Given the description of an element on the screen output the (x, y) to click on. 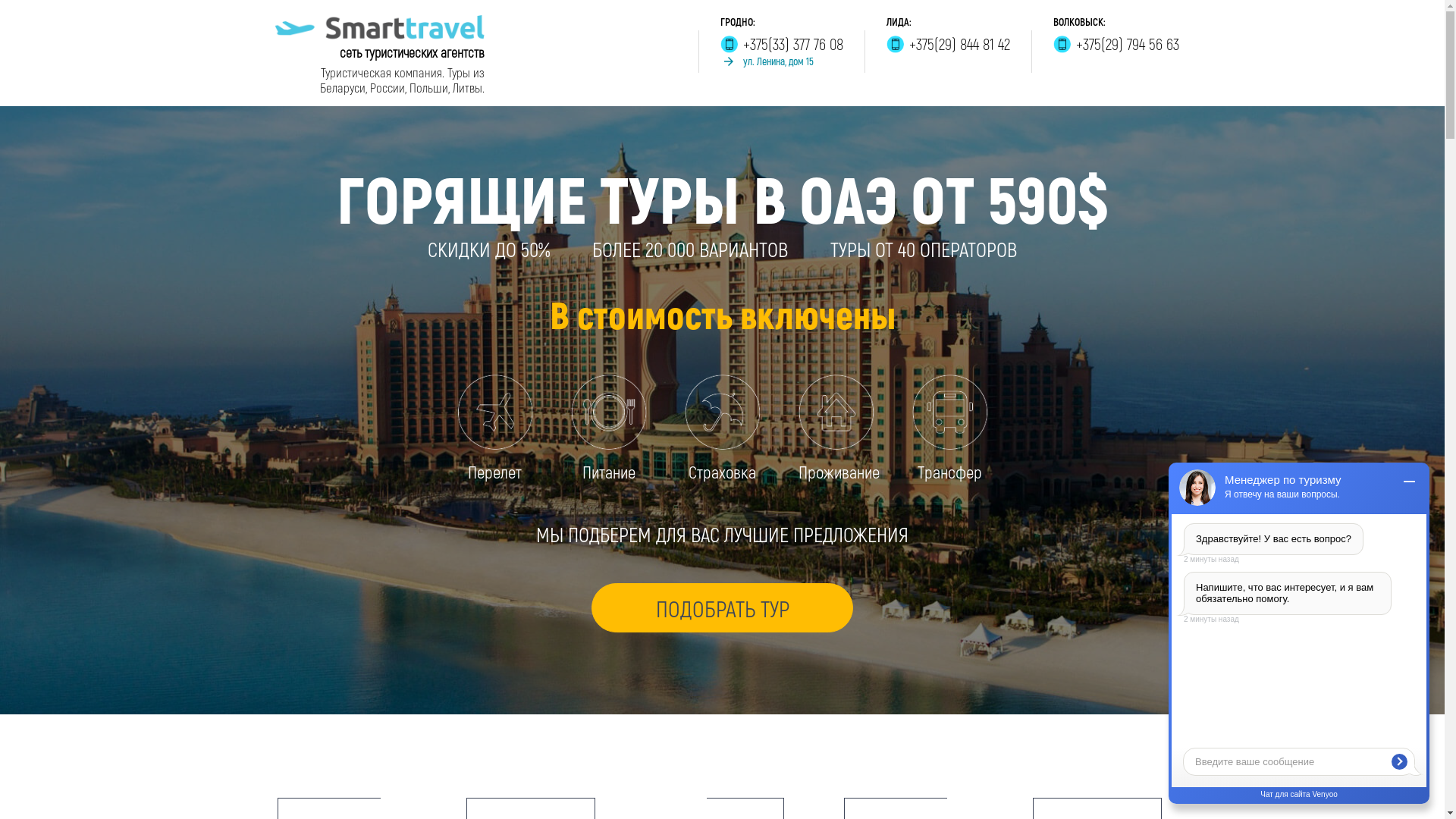
+375(29) 844 81 42 Element type: text (947, 44)
+375(29) 794 56 63 Element type: text (1115, 44)
+375(33) 377 76 08 Element type: text (781, 44)
